Given the description of an element on the screen output the (x, y) to click on. 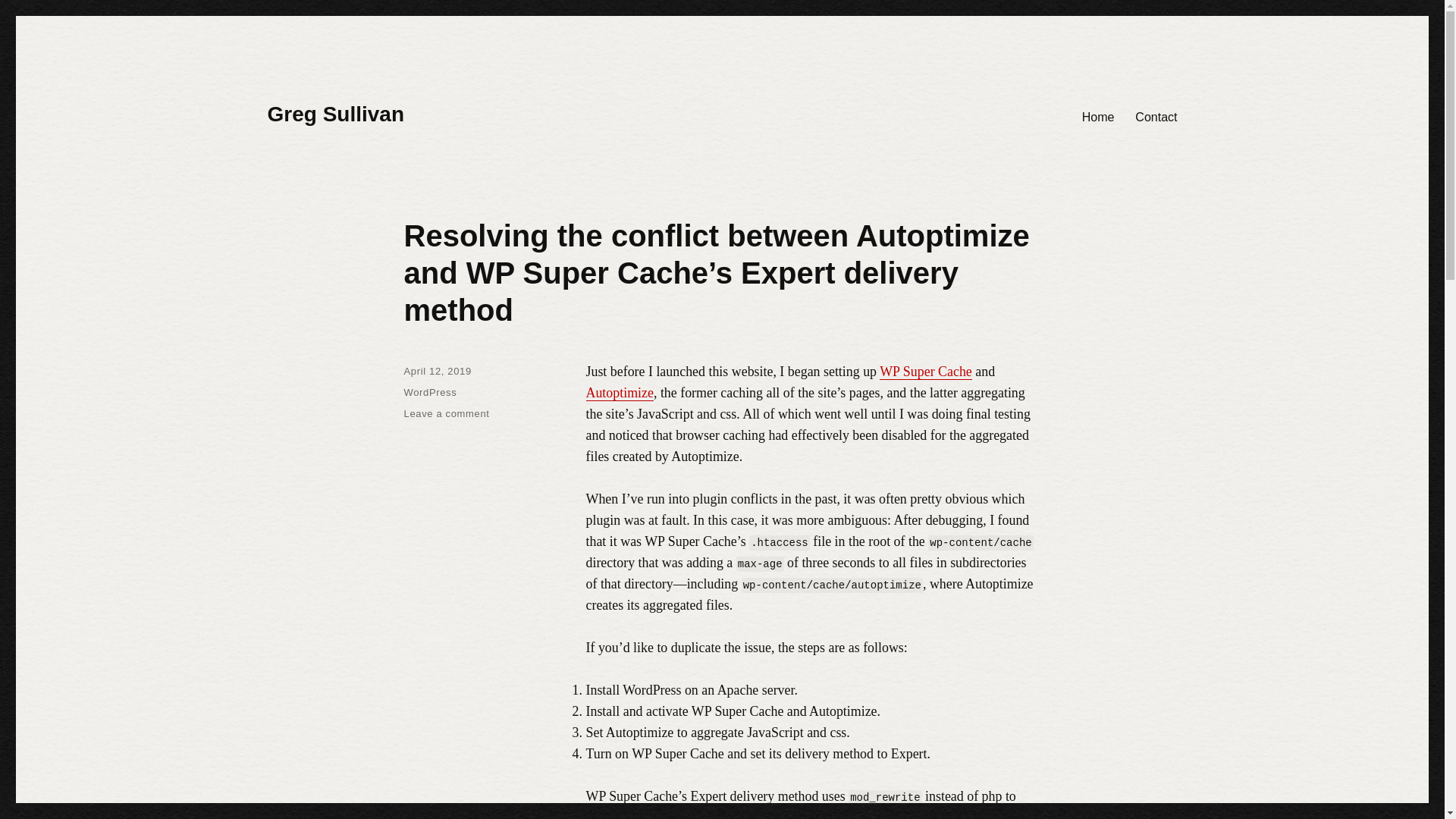
Home (1098, 116)
WP Super Cache (925, 371)
Autoptimize (618, 392)
Greg Sullivan (335, 114)
April 12, 2019 (436, 370)
Contact (1156, 116)
WordPress (430, 392)
